Given the description of an element on the screen output the (x, y) to click on. 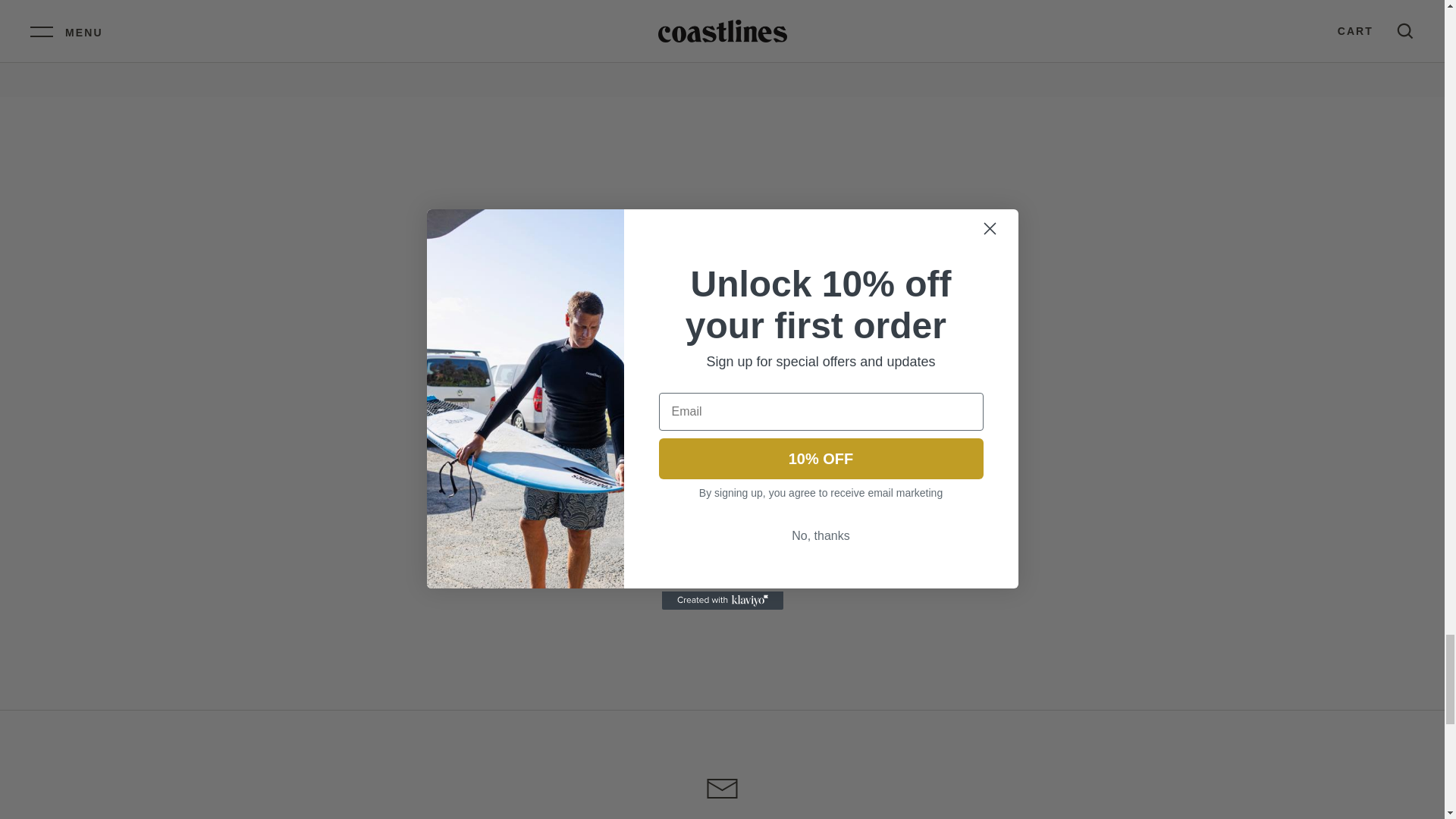
Email (722, 788)
